Given the description of an element on the screen output the (x, y) to click on. 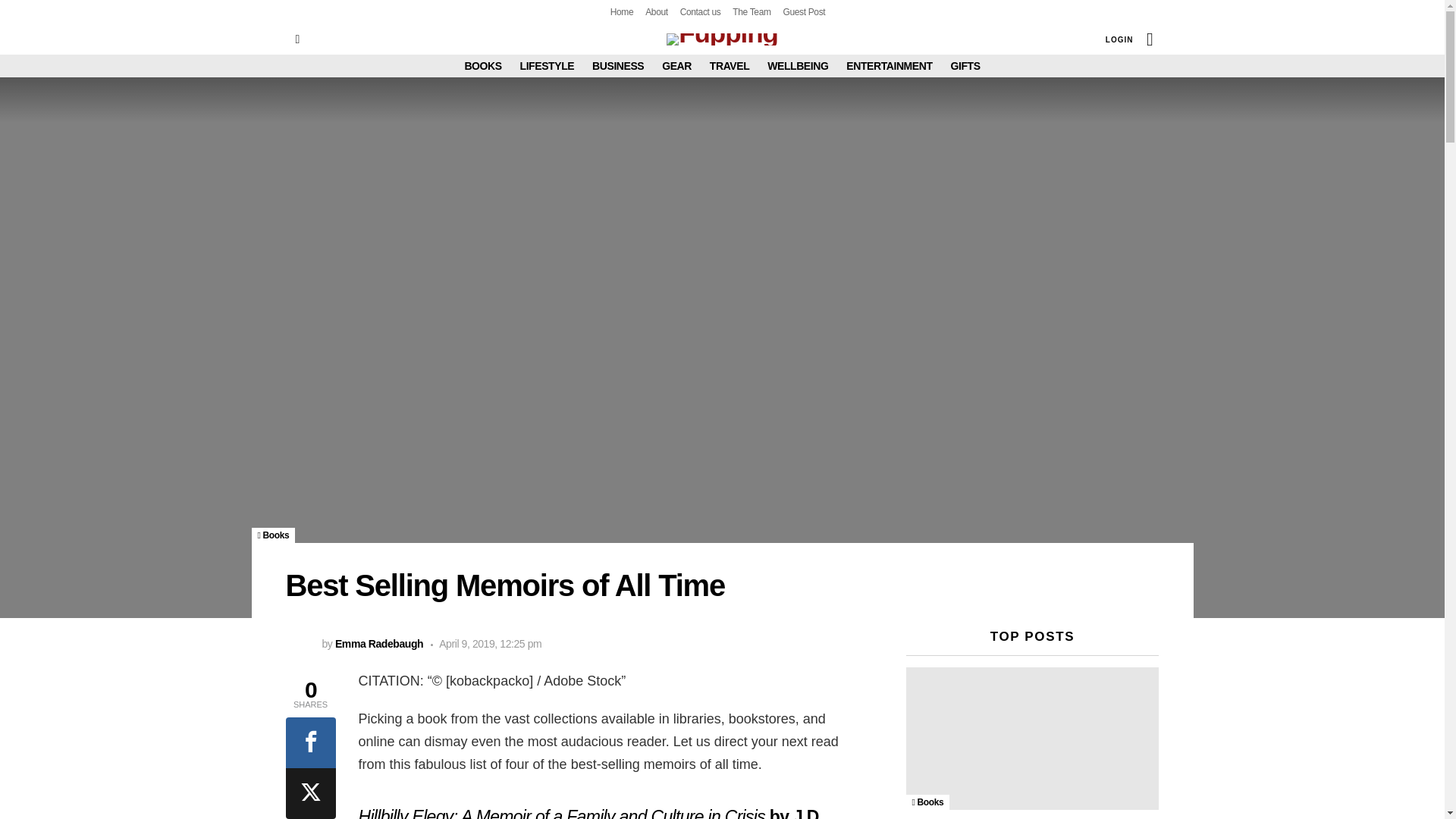
GIFTS (964, 65)
TRAVEL (729, 65)
Menu (296, 39)
LOGIN (1119, 38)
Posts by Emma Radebaugh (378, 644)
Contact us (699, 12)
Guest Post (804, 12)
About (656, 12)
WELLBEING (797, 65)
BOOKS (482, 65)
Home (621, 12)
Emma Radebaugh (378, 644)
LIFESTYLE (547, 65)
BUSINESS (617, 65)
GEAR (675, 65)
